Given the description of an element on the screen output the (x, y) to click on. 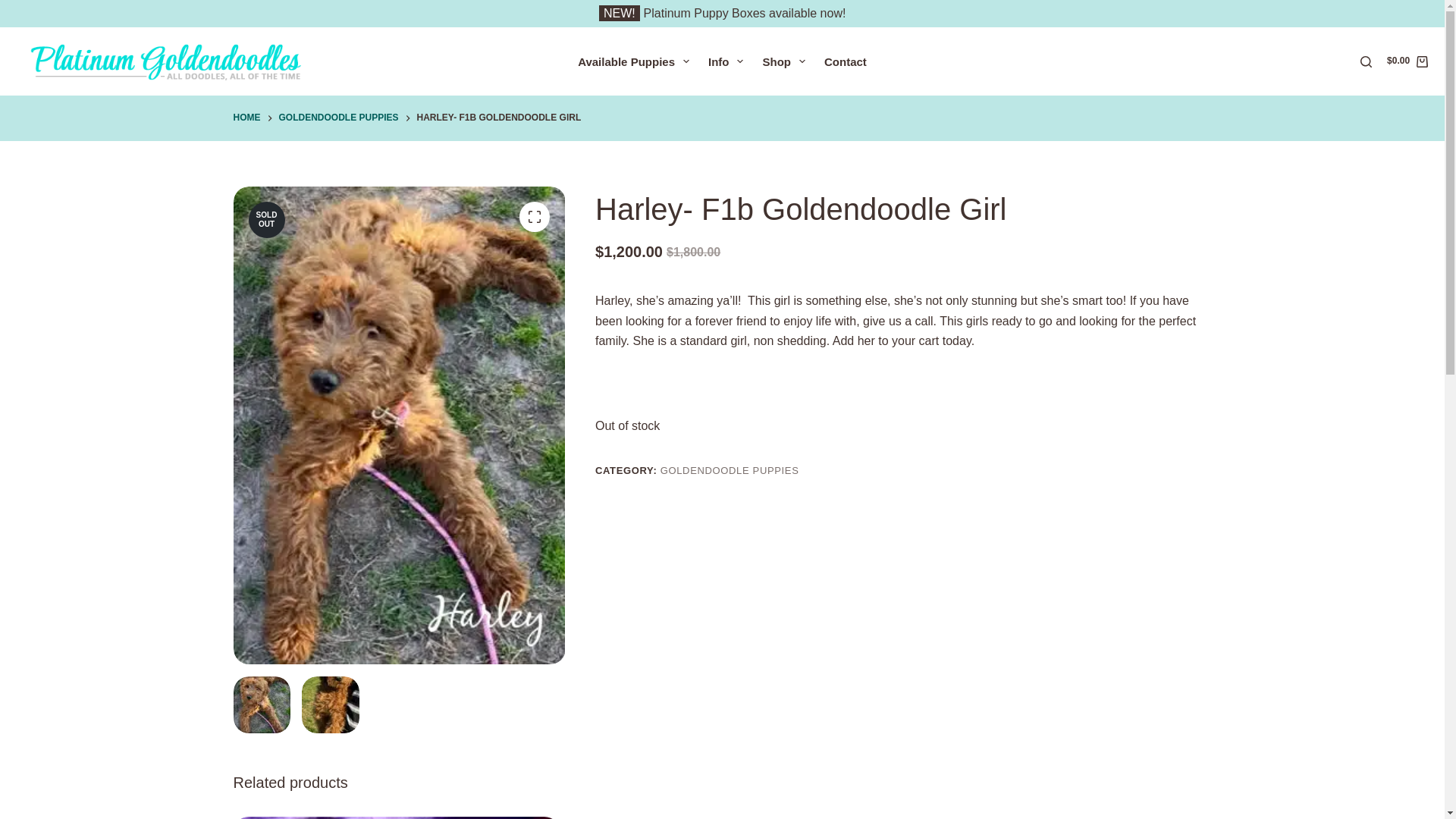
Skip to content (15, 7)
harley789 (261, 704)
harley456 (330, 704)
